Given the description of an element on the screen output the (x, y) to click on. 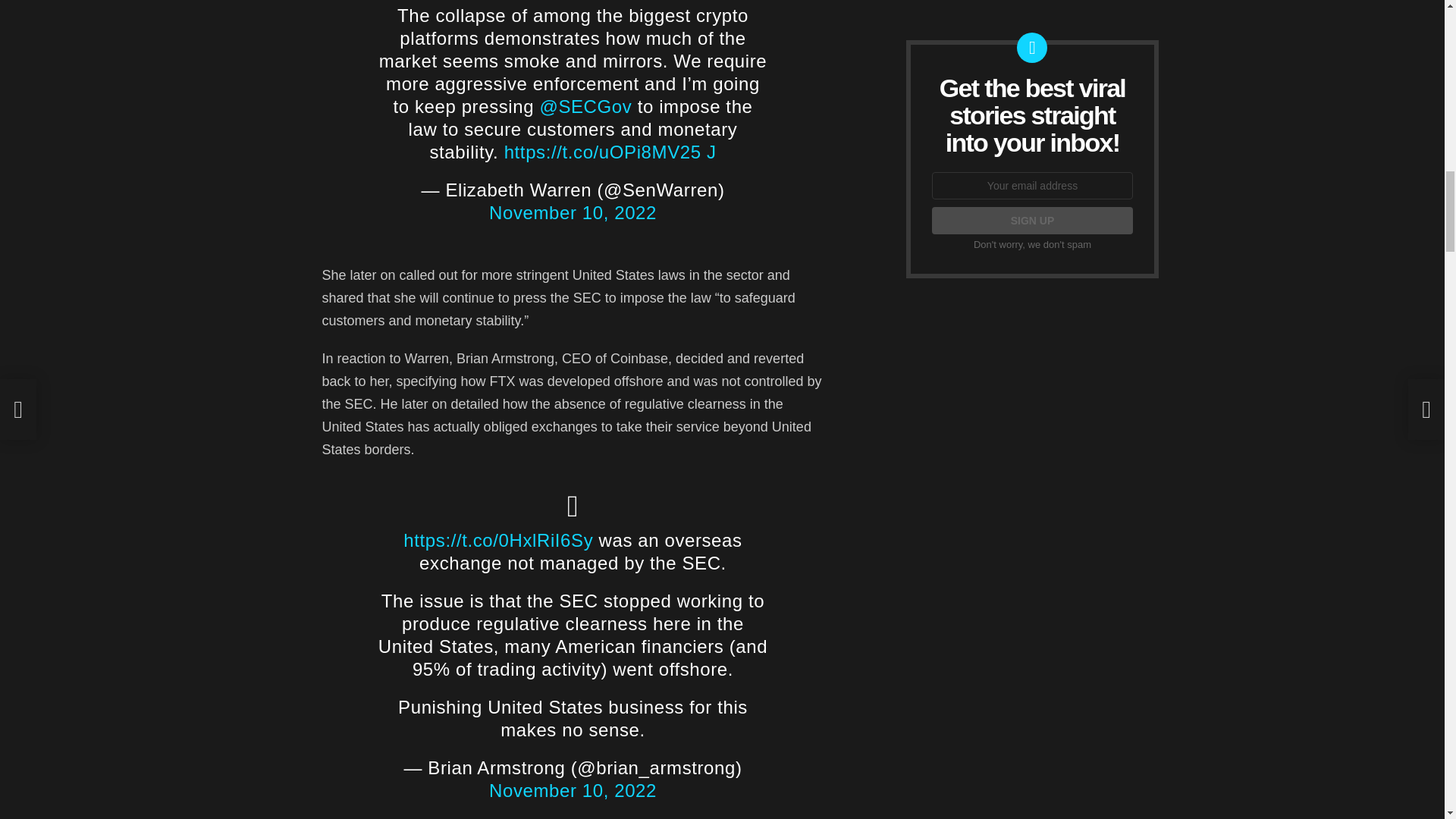
November 10, 2022 (572, 790)
Sign up (1031, 220)
November 10, 2022 (572, 212)
